Given the description of an element on the screen output the (x, y) to click on. 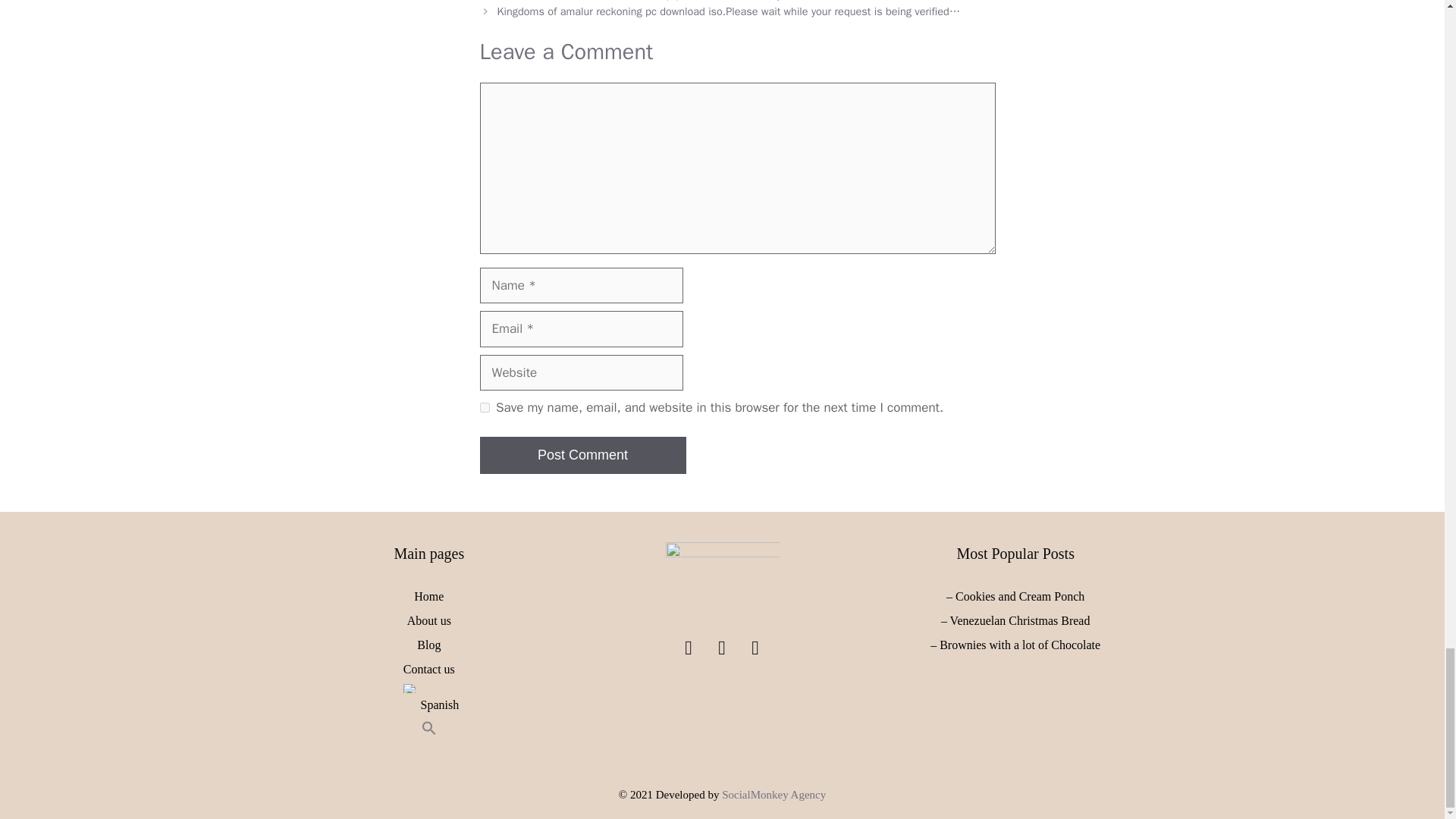
Post Comment (582, 455)
Post Comment (582, 455)
yes (484, 407)
